Given the description of an element on the screen output the (x, y) to click on. 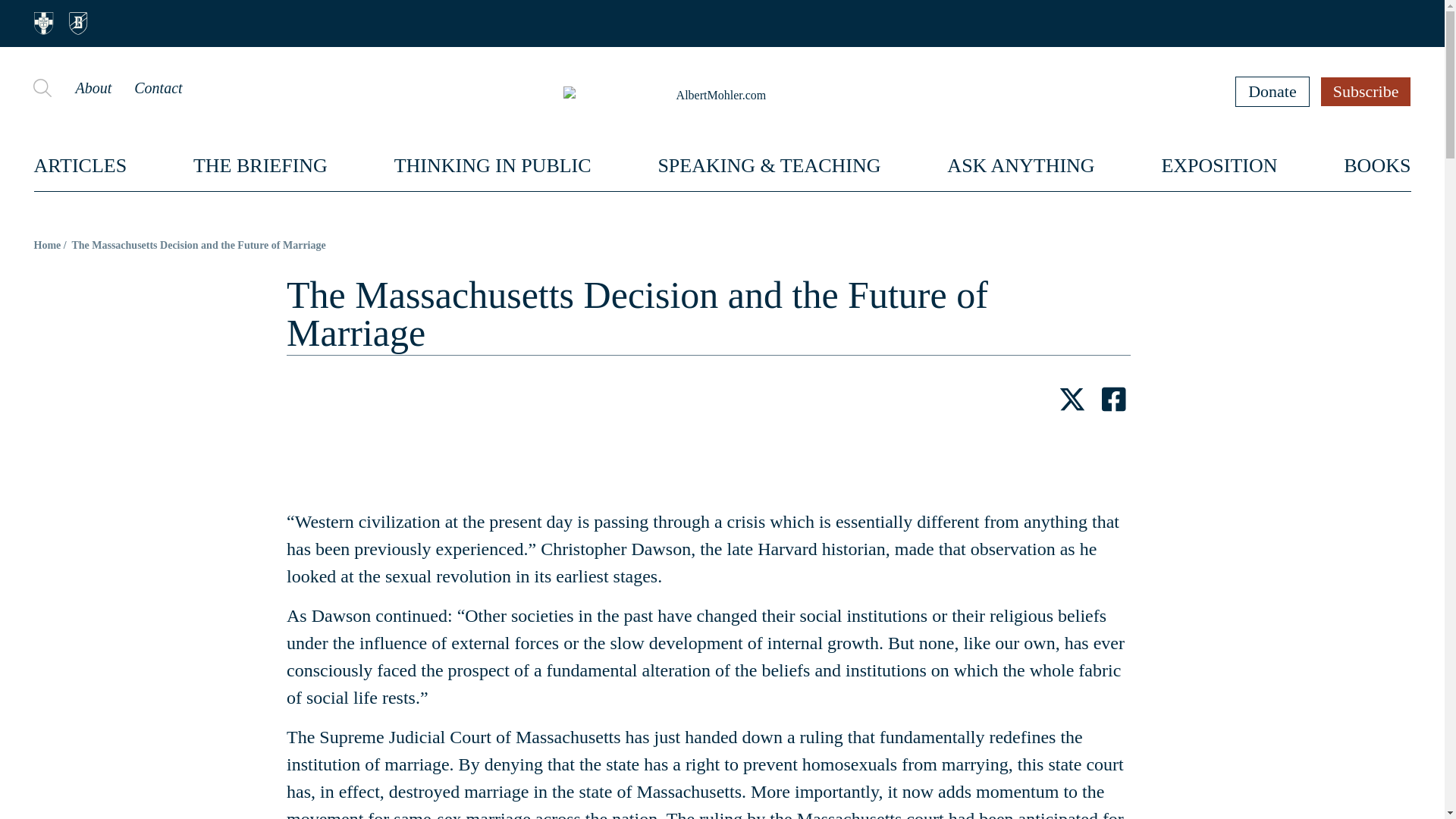
ARTICLES (79, 165)
Contact (157, 87)
THE BRIEFING (260, 165)
ASK ANYTHING (1020, 165)
EXPOSITION (1218, 165)
THINKING IN PUBLIC (492, 165)
Subscribe (1366, 91)
Home (47, 245)
Donate (1272, 91)
About (93, 87)
